Given the description of an element on the screen output the (x, y) to click on. 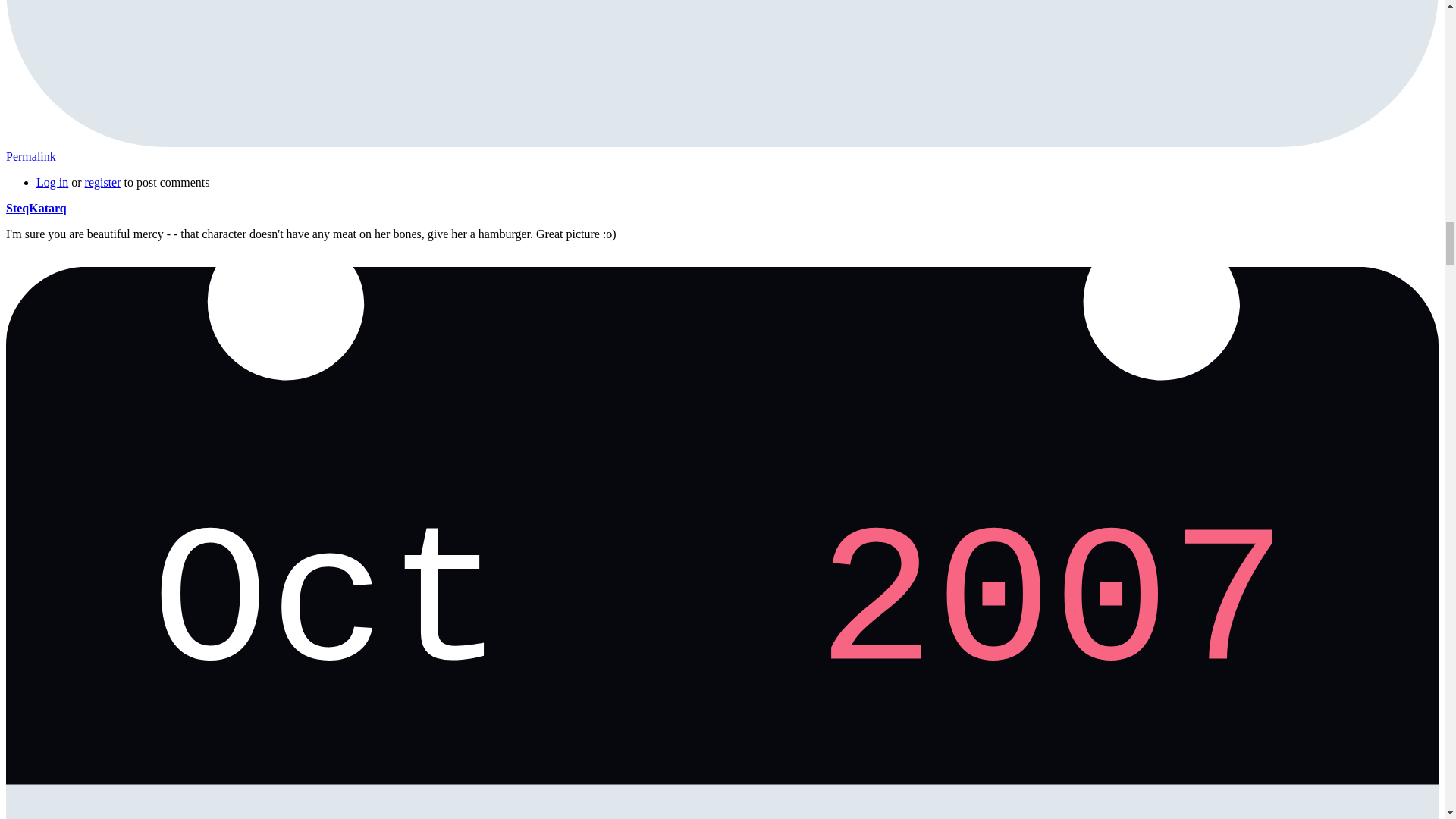
SteqKatarq (35, 207)
Permalink (30, 155)
Log in (52, 182)
View user profile. (35, 207)
register (102, 182)
